Given the description of an element on the screen output the (x, y) to click on. 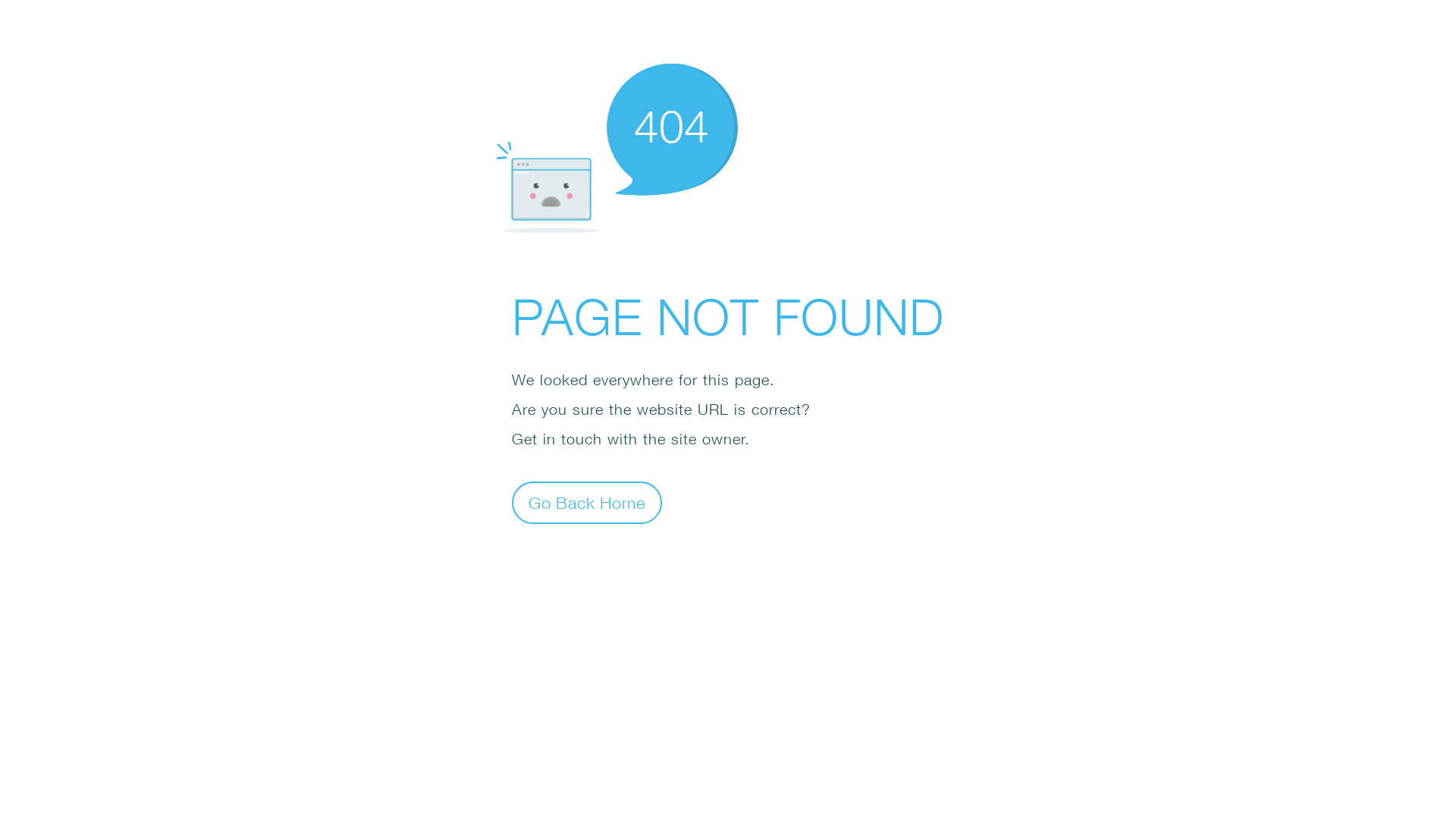
Go Back Home Element type: text (586, 502)
